Given the description of an element on the screen output the (x, y) to click on. 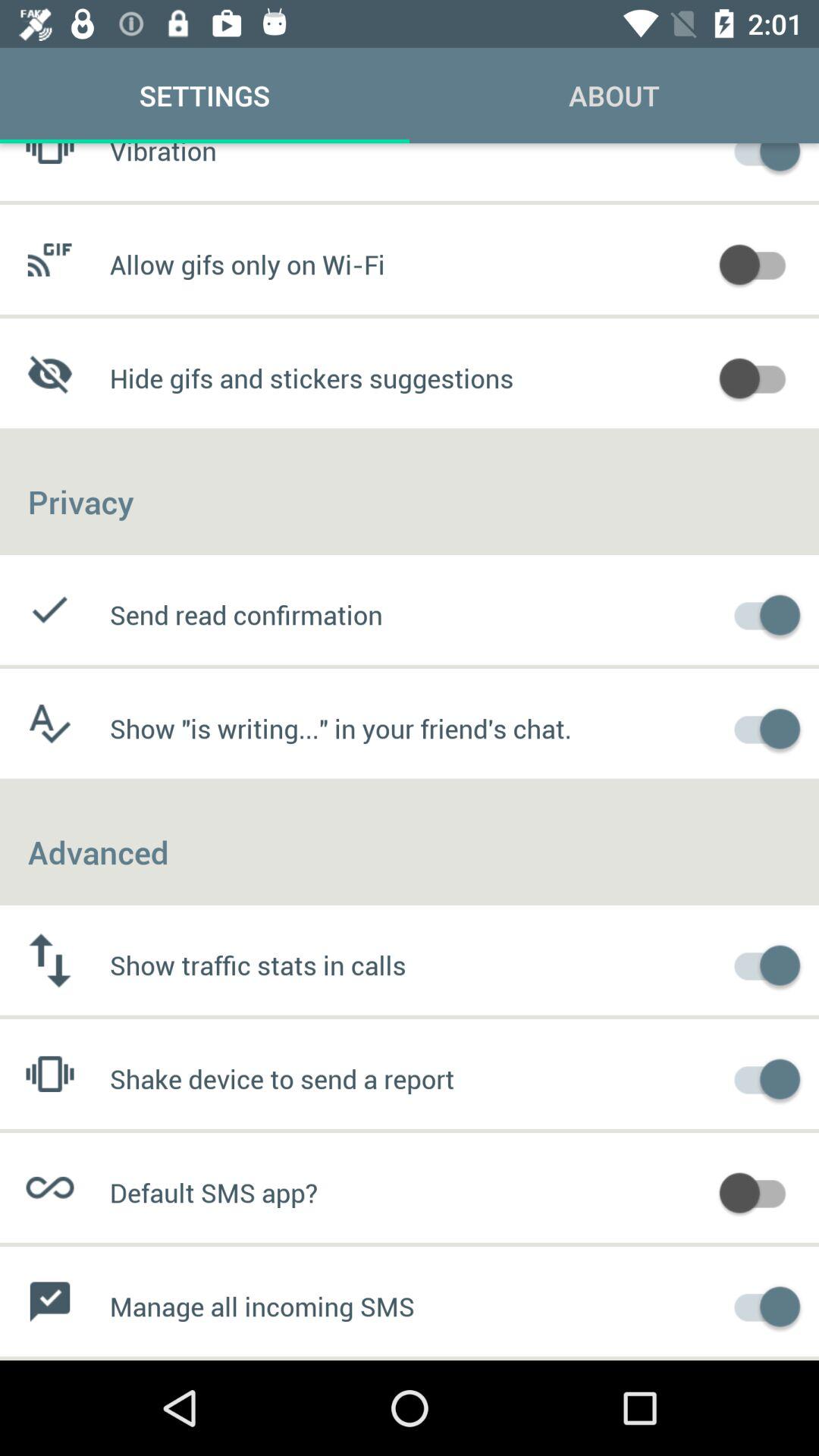
turn off vibration (759, 159)
